Given the description of an element on the screen output the (x, y) to click on. 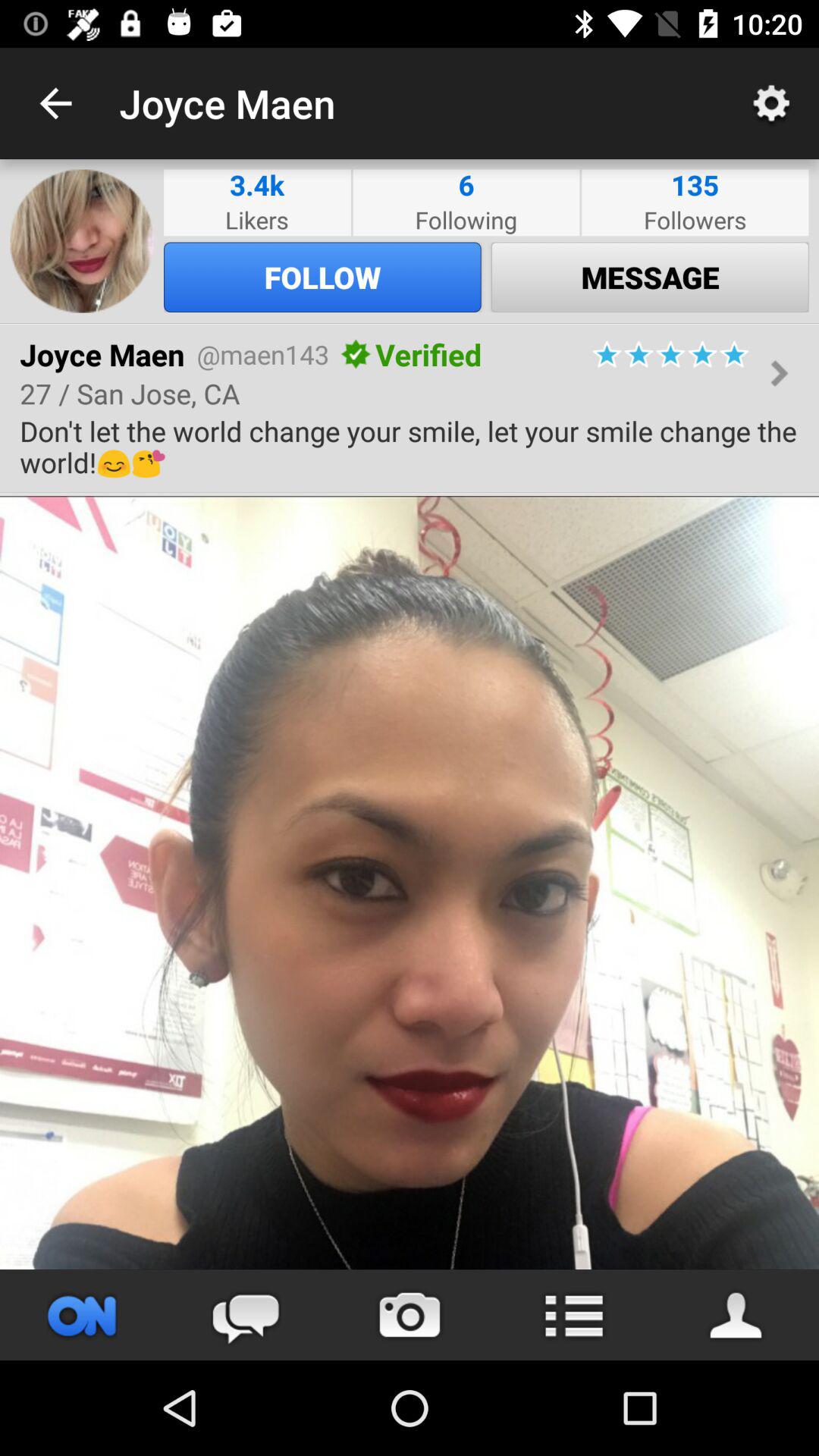
tap icon to the left of followers item (466, 184)
